Given the description of an element on the screen output the (x, y) to click on. 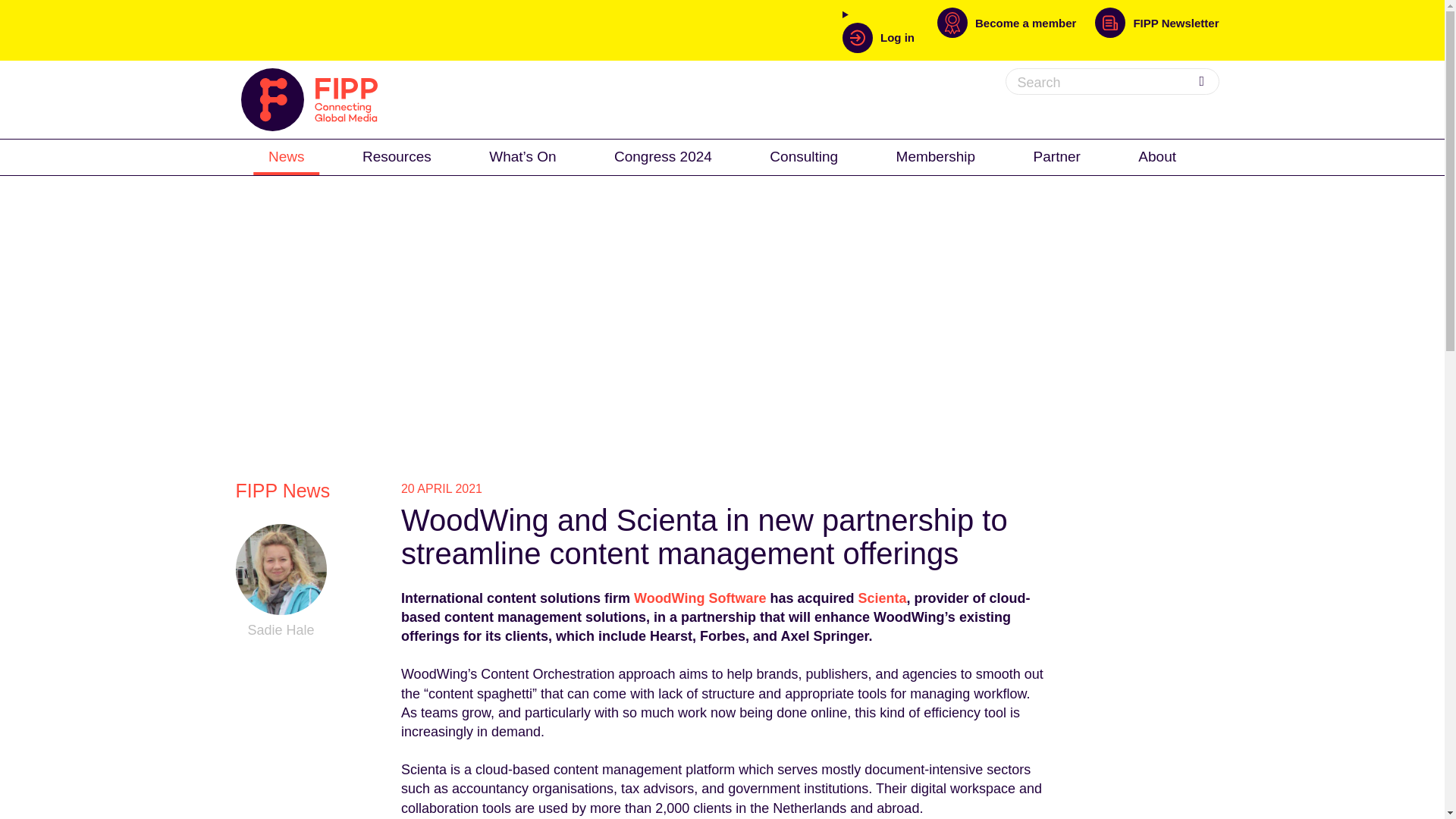
Partner (1056, 155)
Congress 2024 (662, 155)
Consulting (803, 155)
News (286, 155)
FIPP News (282, 490)
Scienta (883, 598)
Become a member (1015, 30)
Resources (396, 155)
WoodWing Software (700, 598)
Membership (935, 155)
